Given the description of an element on the screen output the (x, y) to click on. 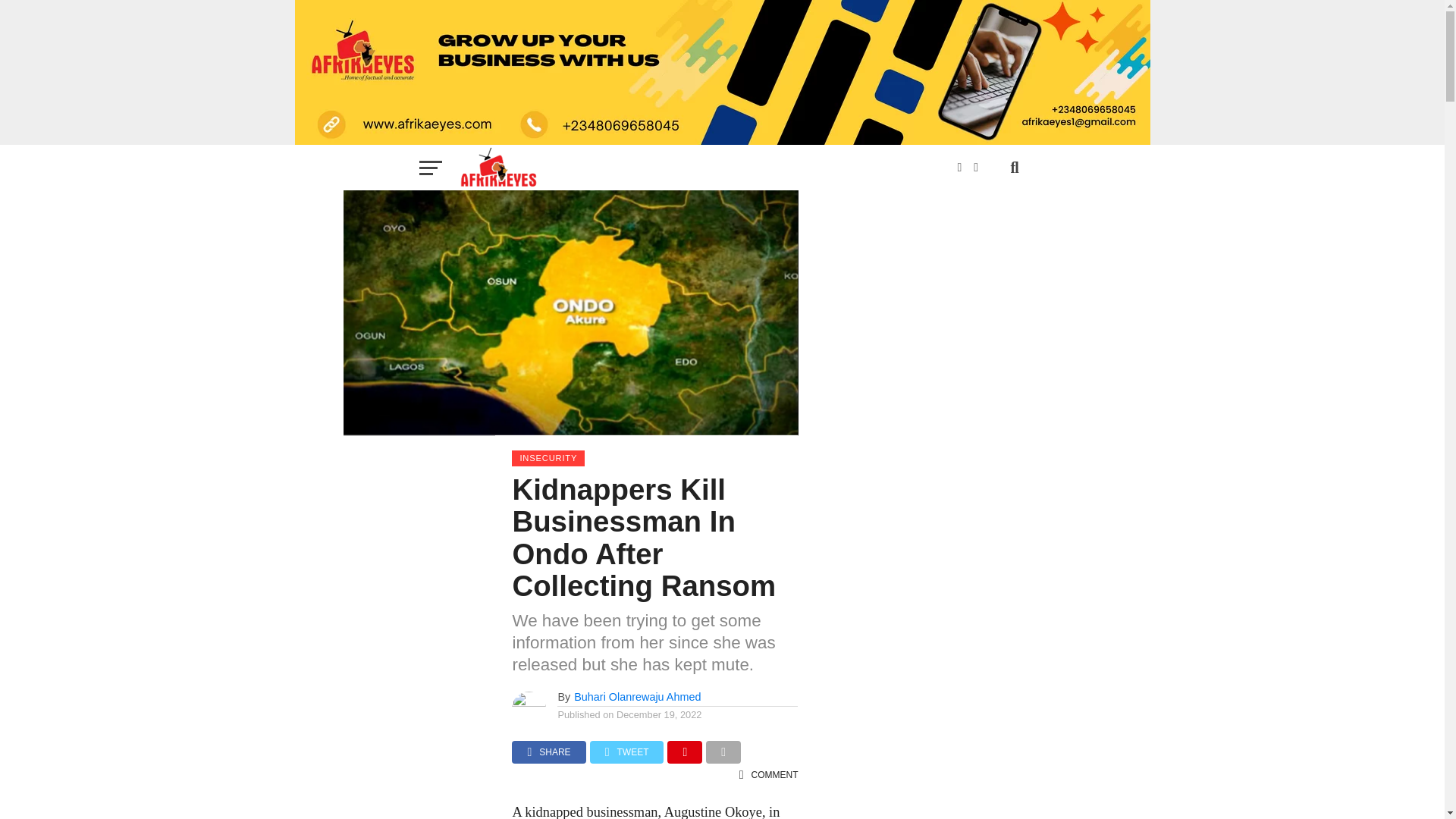
Grow Business (722, 72)
Posts by Buhari Olanrewaju Ahmed (636, 695)
